Given the description of an element on the screen output the (x, y) to click on. 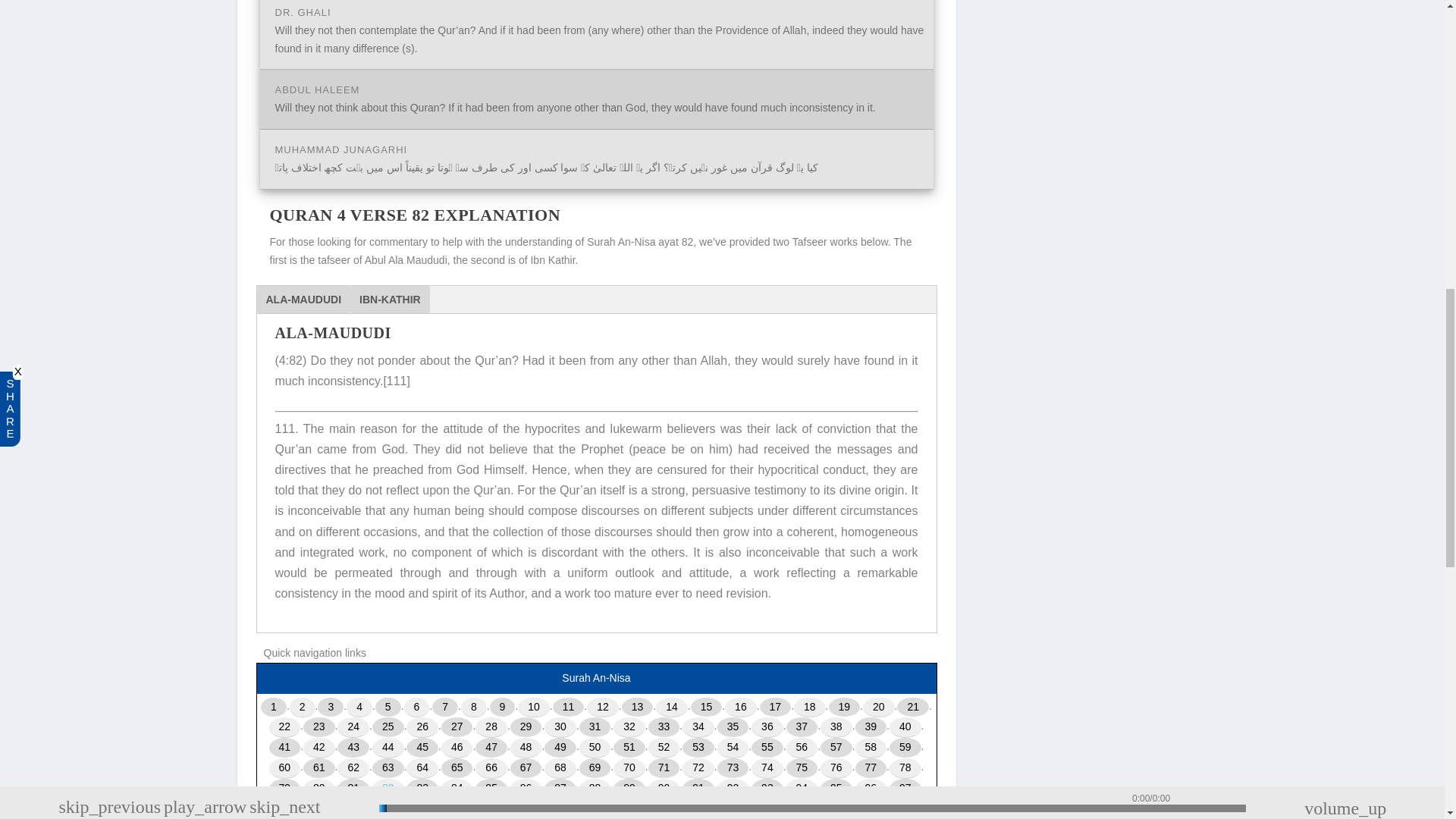
10 (534, 707)
1 (273, 707)
IBN-KATHIR (389, 298)
8 (473, 707)
4 (359, 707)
9 (502, 707)
2 (302, 707)
12 (602, 707)
7 (445, 707)
3 (330, 707)
ALA-MAUDUDI (303, 298)
5 (388, 707)
11 (569, 707)
6 (416, 707)
